Given the description of an element on the screen output the (x, y) to click on. 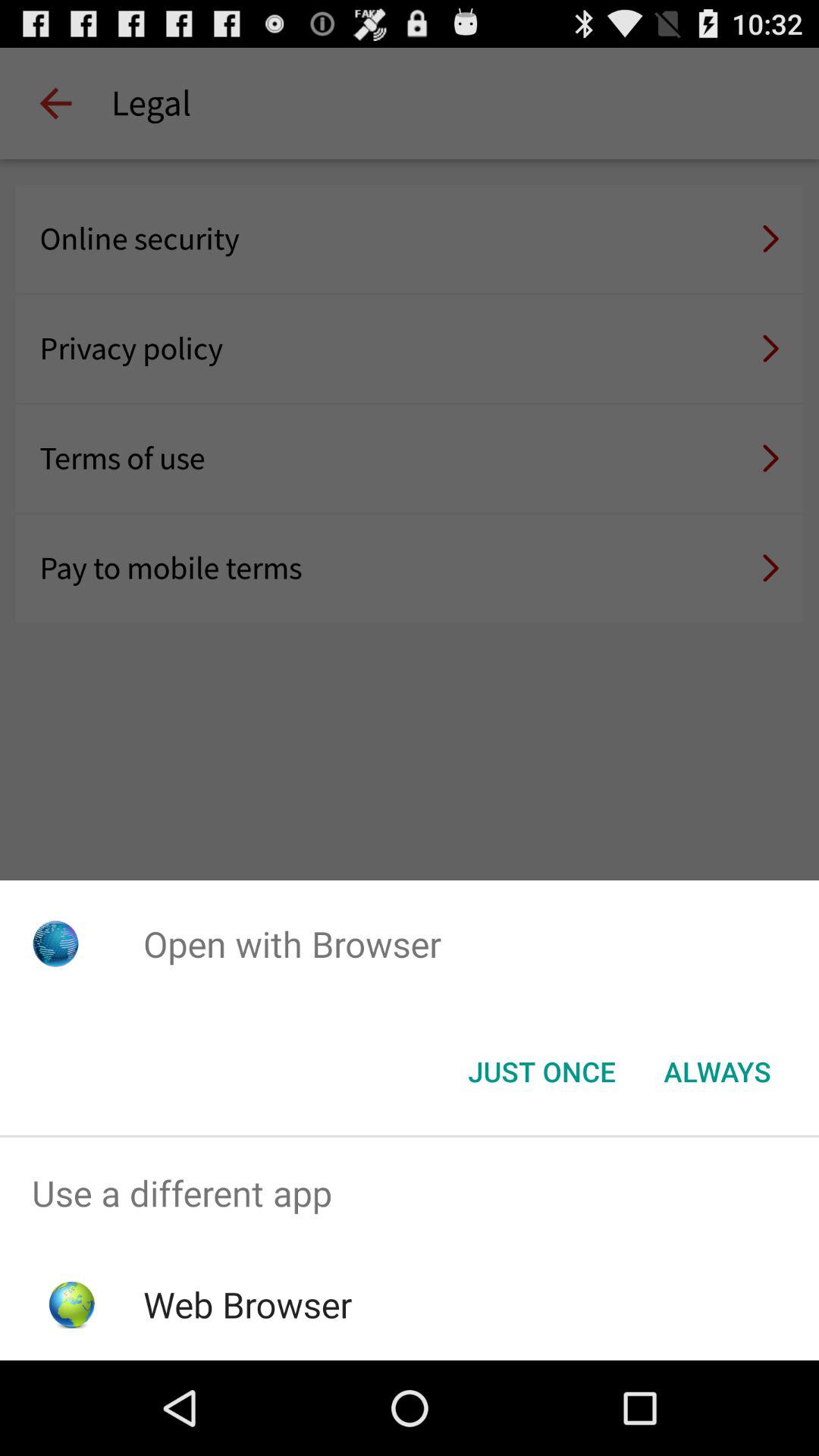
choose icon above the web browser app (409, 1192)
